Given the description of an element on the screen output the (x, y) to click on. 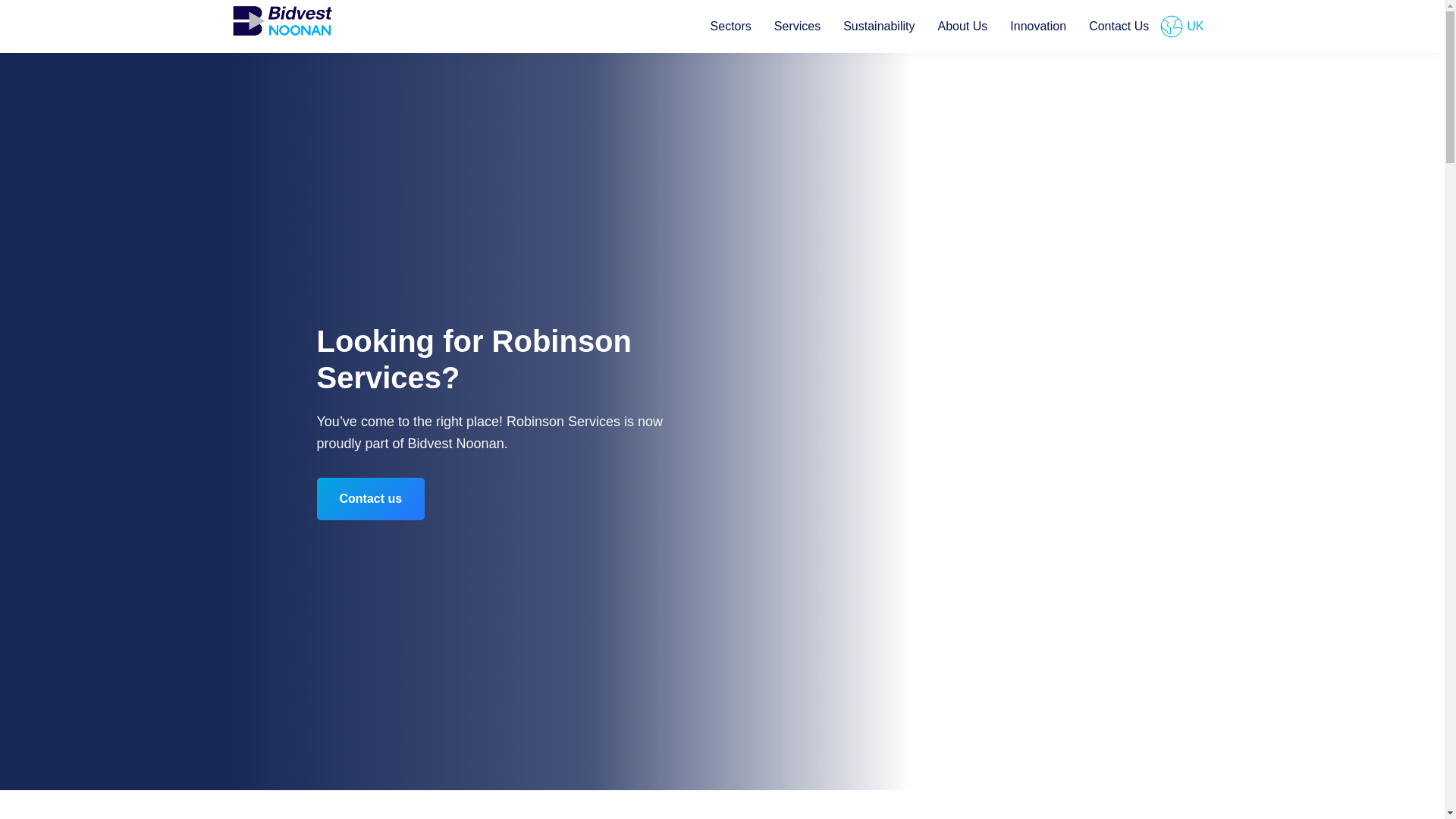
Services (796, 26)
Sectors (730, 26)
UK (1187, 26)
About Us (962, 26)
Sustainability (878, 26)
Contact us (371, 498)
Contact Us (1118, 26)
Innovation (1037, 26)
